Given the description of an element on the screen output the (x, y) to click on. 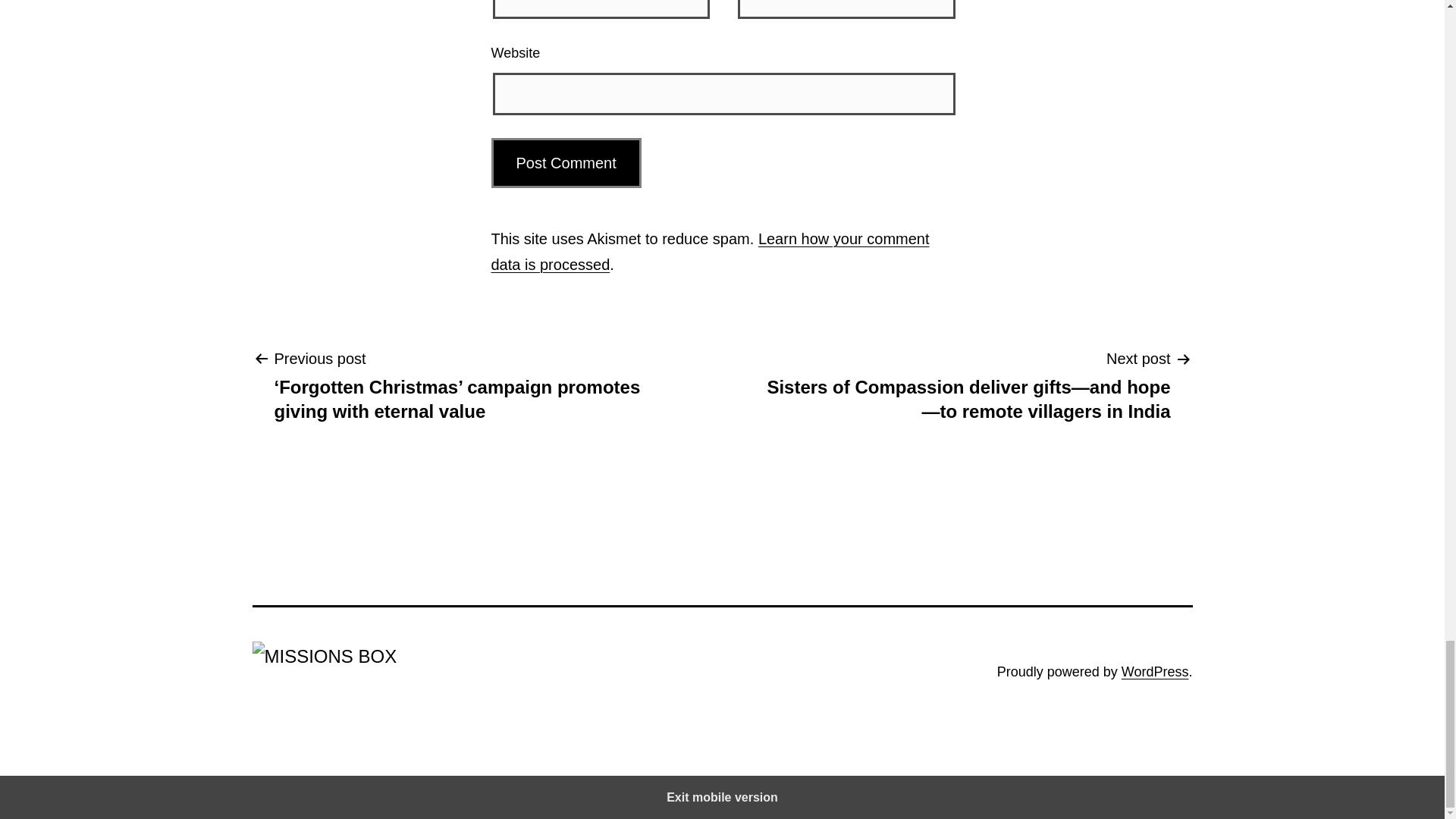
Post Comment (567, 163)
Post Comment (567, 163)
Learn how your comment data is processed (711, 251)
WordPress (1155, 671)
